Given the description of an element on the screen output the (x, y) to click on. 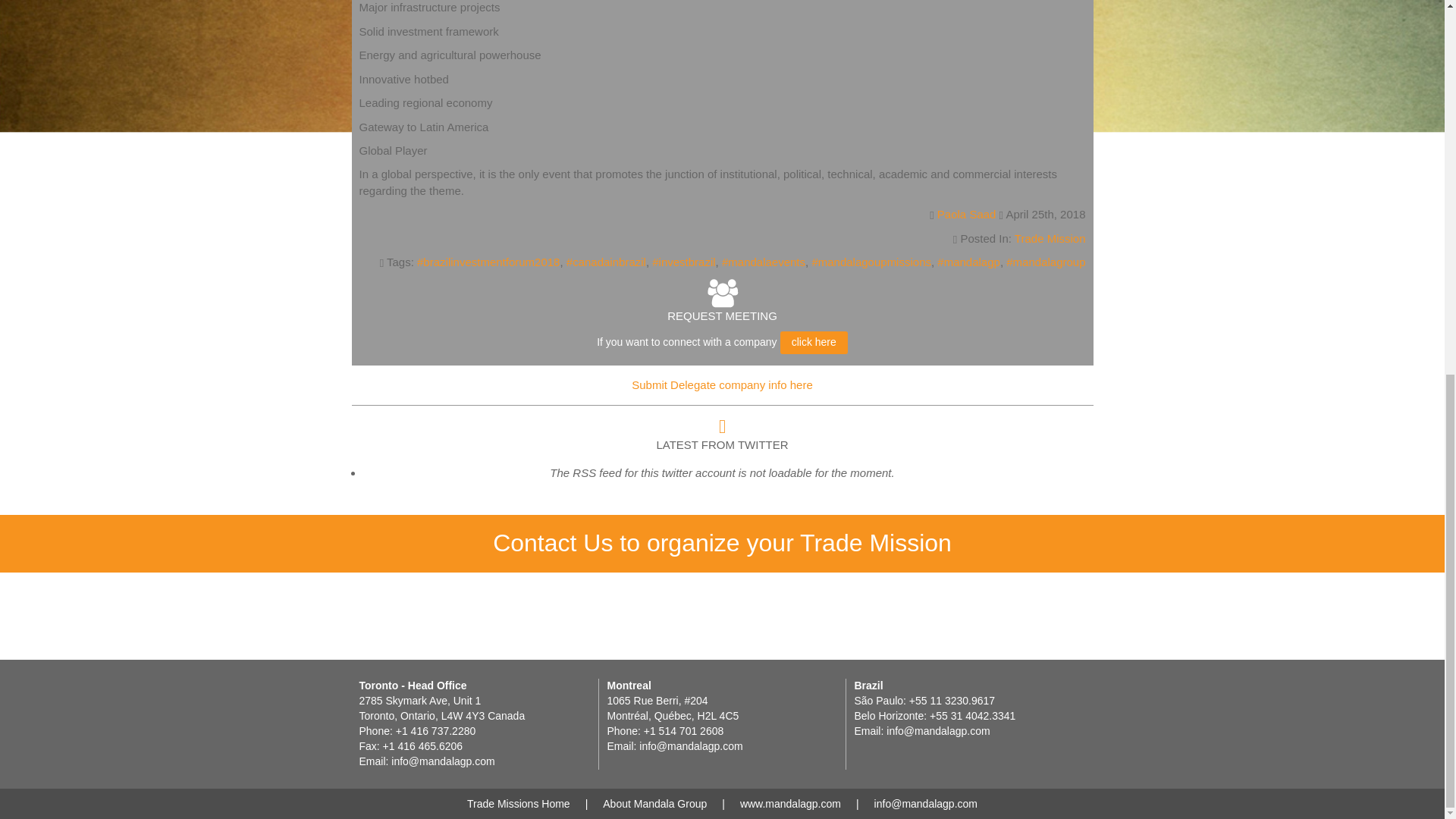
www.mandalagp.com (790, 803)
Trade Mission (1050, 237)
Posts by Paola Saad (966, 214)
Trade Missions Home (518, 803)
Paola Saad (966, 214)
Contact Us to organize your Trade Mission (722, 546)
Submit Delegate company info here (722, 384)
About Mandala Group (654, 803)
click here (813, 342)
